Given the description of an element on the screen output the (x, y) to click on. 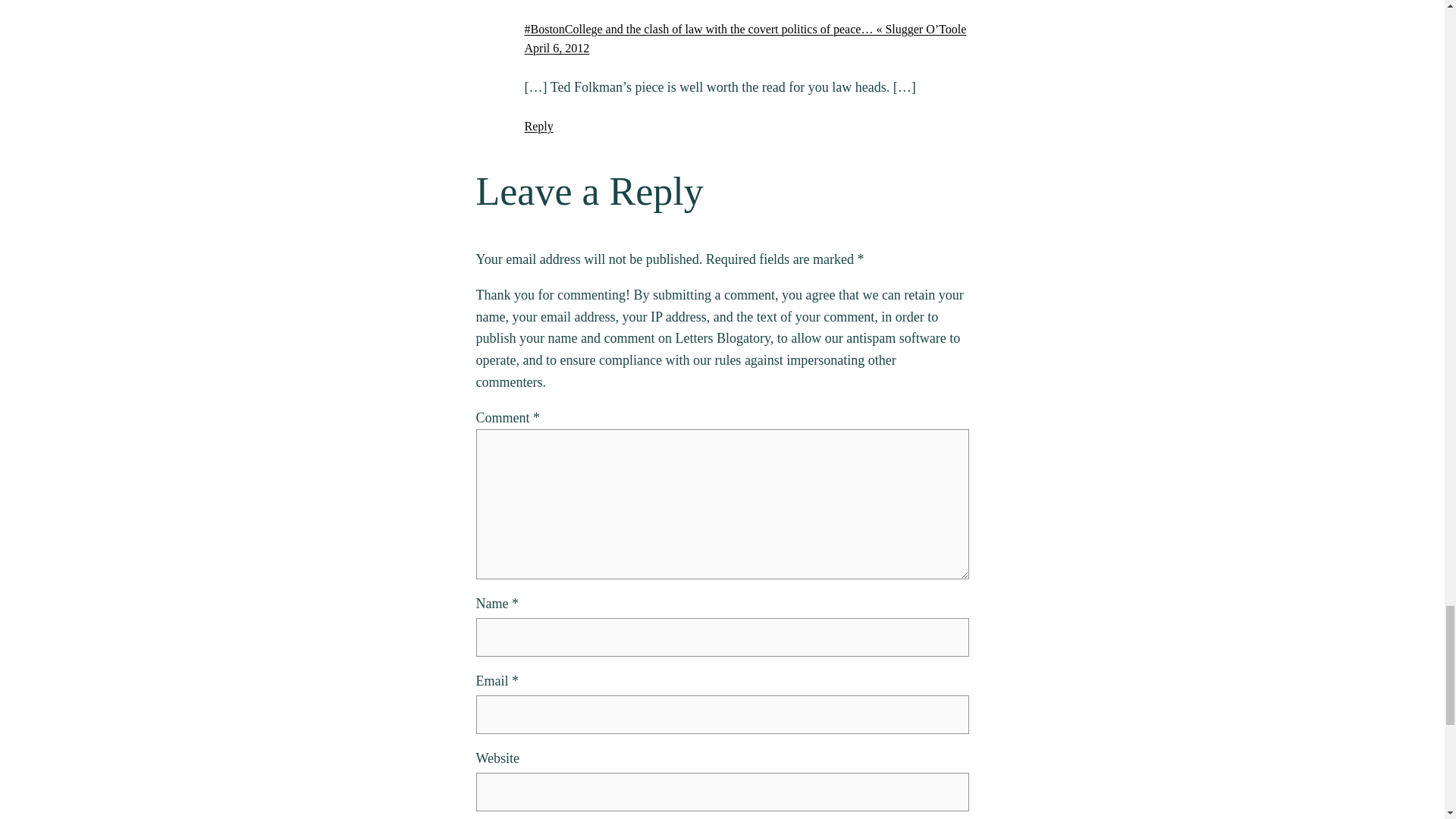
Post Comment (535, 353)
1 (484, 307)
